Given the description of an element on the screen output the (x, y) to click on. 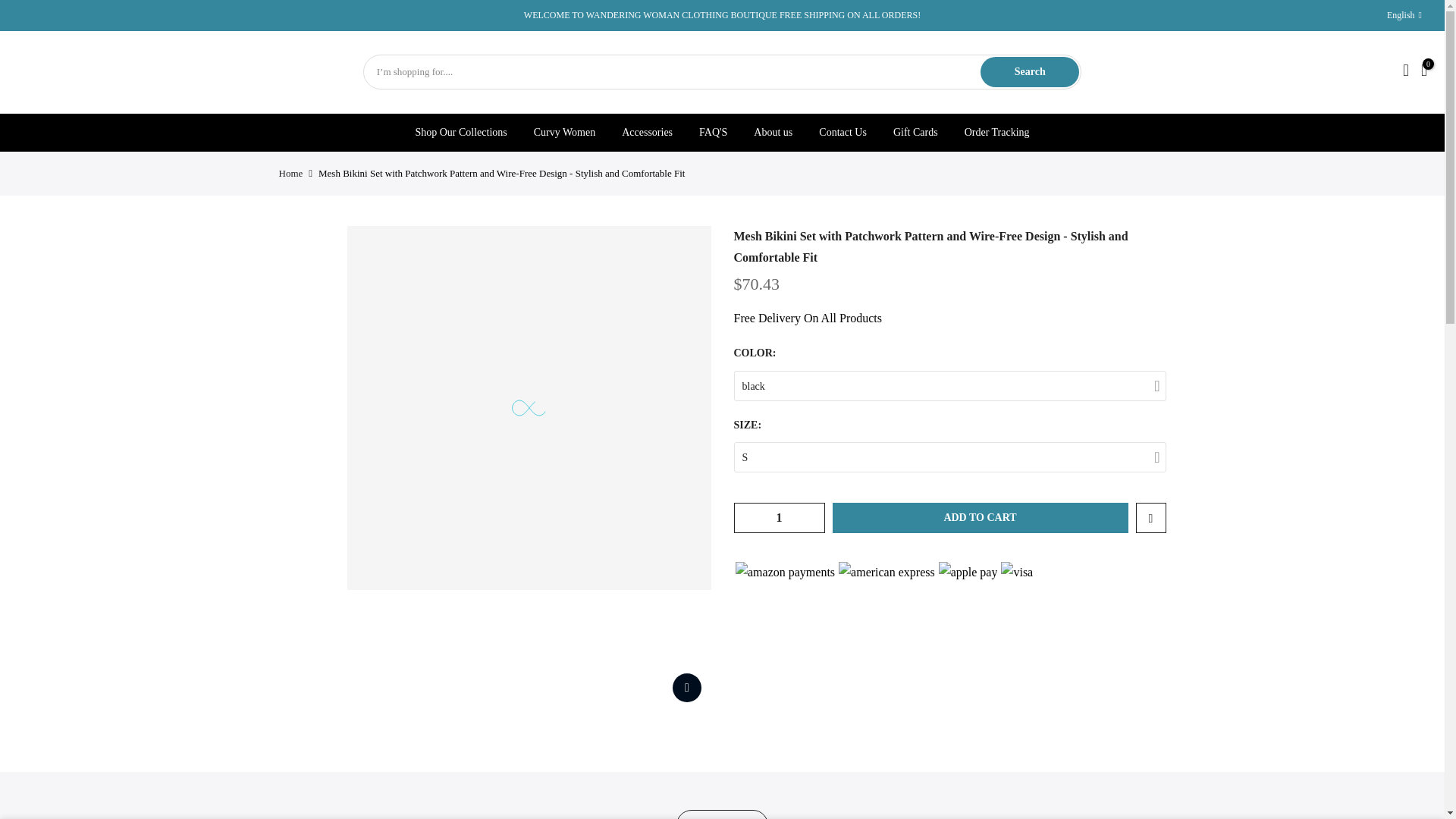
Gift Cards (914, 132)
ADD TO CART (980, 517)
Home (290, 173)
Contact Us (843, 132)
FAQ'S (713, 132)
Order Tracking (996, 132)
Curvy Women (563, 132)
Accessories (646, 132)
1 (778, 517)
Shop Our Collections (460, 132)
Search (1028, 71)
Description (722, 814)
About us (773, 132)
